Given the description of an element on the screen output the (x, y) to click on. 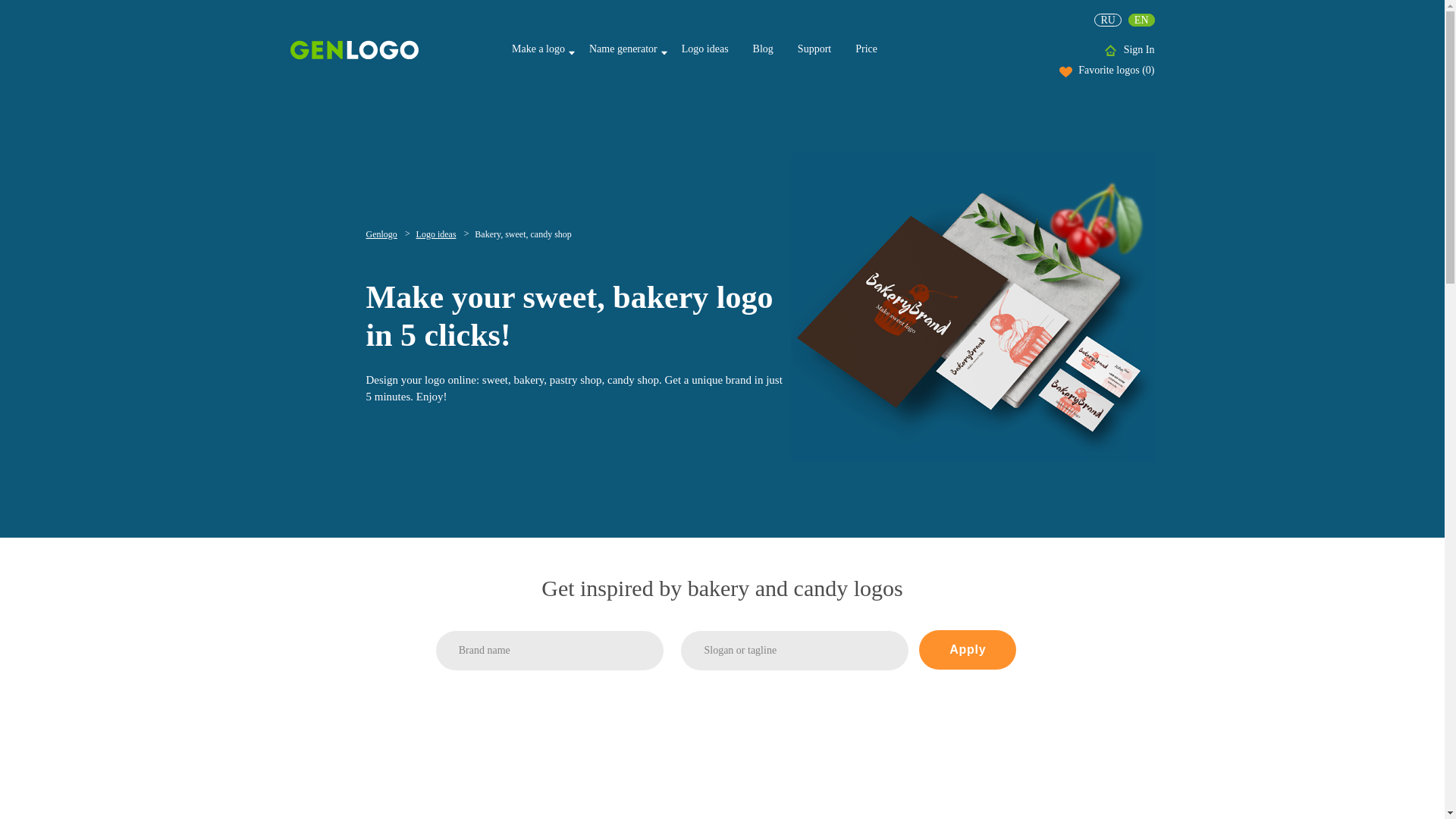
Brand name (549, 650)
RU (1107, 19)
Sign In (1139, 49)
Blog (762, 48)
Name generator (623, 48)
Logo ideas (705, 48)
Support (814, 48)
Price (866, 48)
Genlogo (387, 234)
Bakery, sweet, candy shop (523, 234)
EN (1141, 19)
Logo ideas (442, 234)
Slogan or tagline (794, 650)
Apply (967, 649)
Make a logo (538, 48)
